Given the description of an element on the screen output the (x, y) to click on. 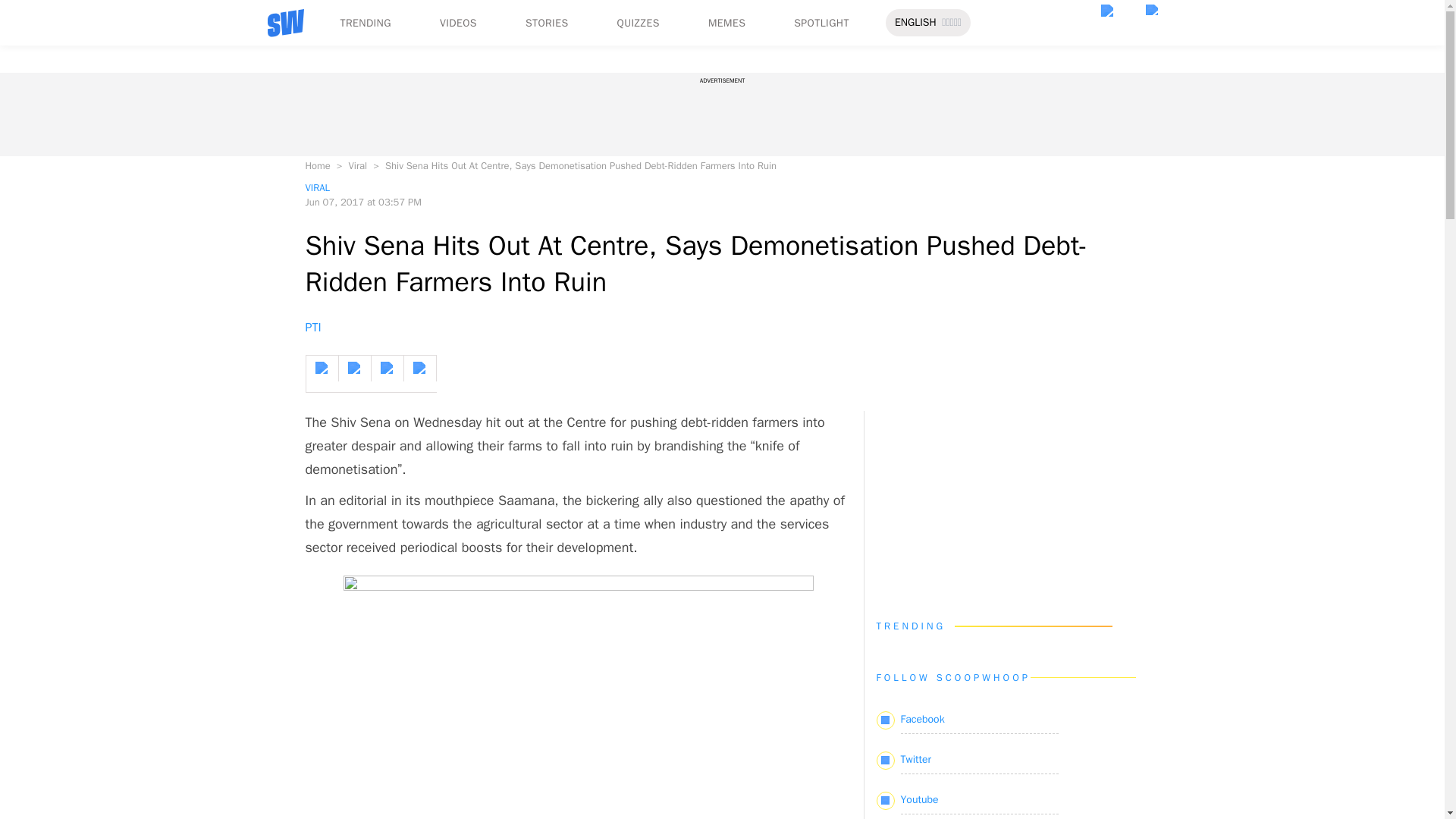
TRENDING (364, 22)
QUIZZES (638, 22)
ENGLISH (915, 22)
SPOTLIGHT (820, 22)
VIDEOS (458, 22)
MEMES (726, 22)
STORIES (547, 22)
